Given the description of an element on the screen output the (x, y) to click on. 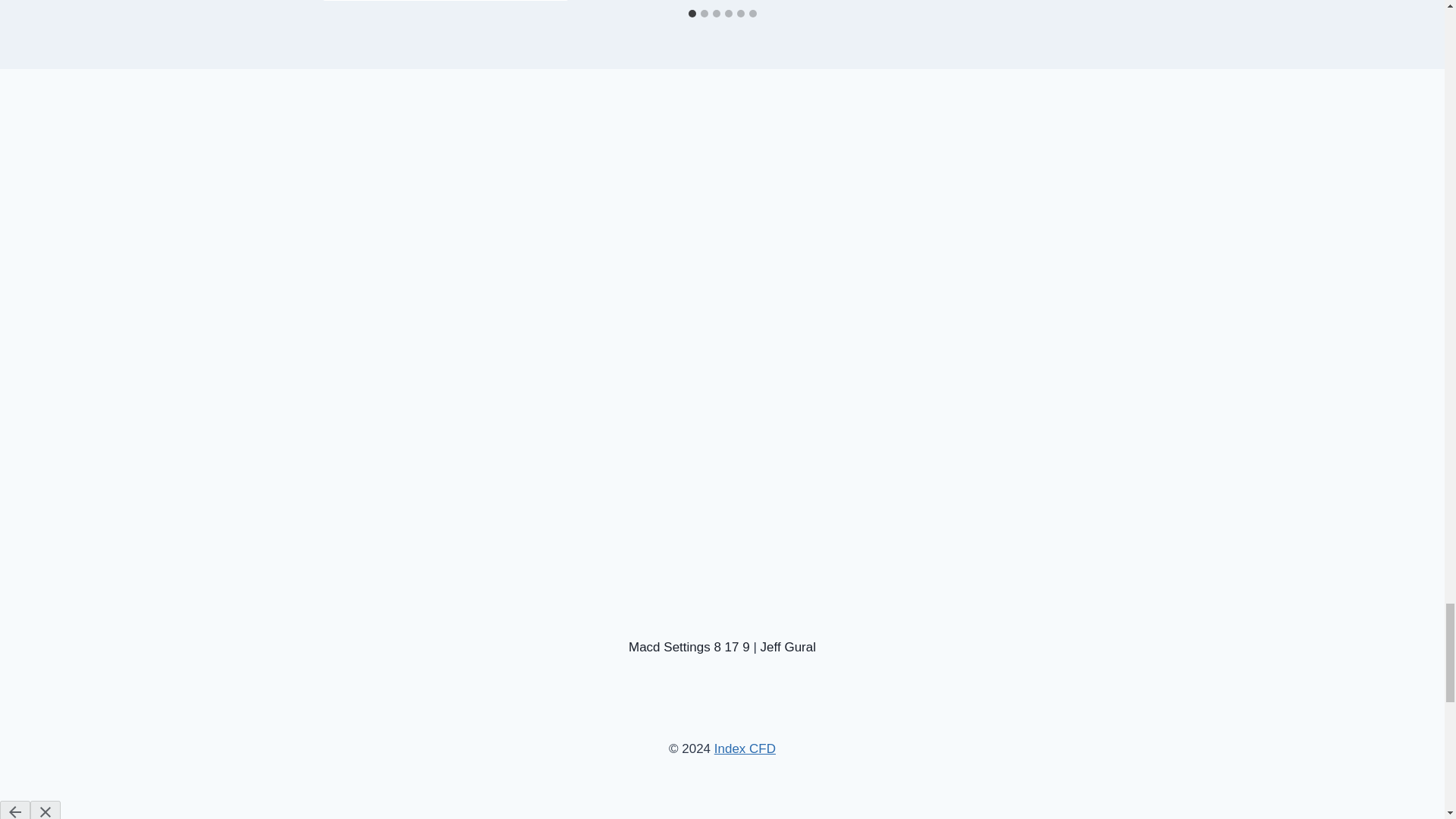
Jeff Gural Net Worth (787, 646)
Macd Settings 8 17 9 (688, 646)
